Given the description of an element on the screen output the (x, y) to click on. 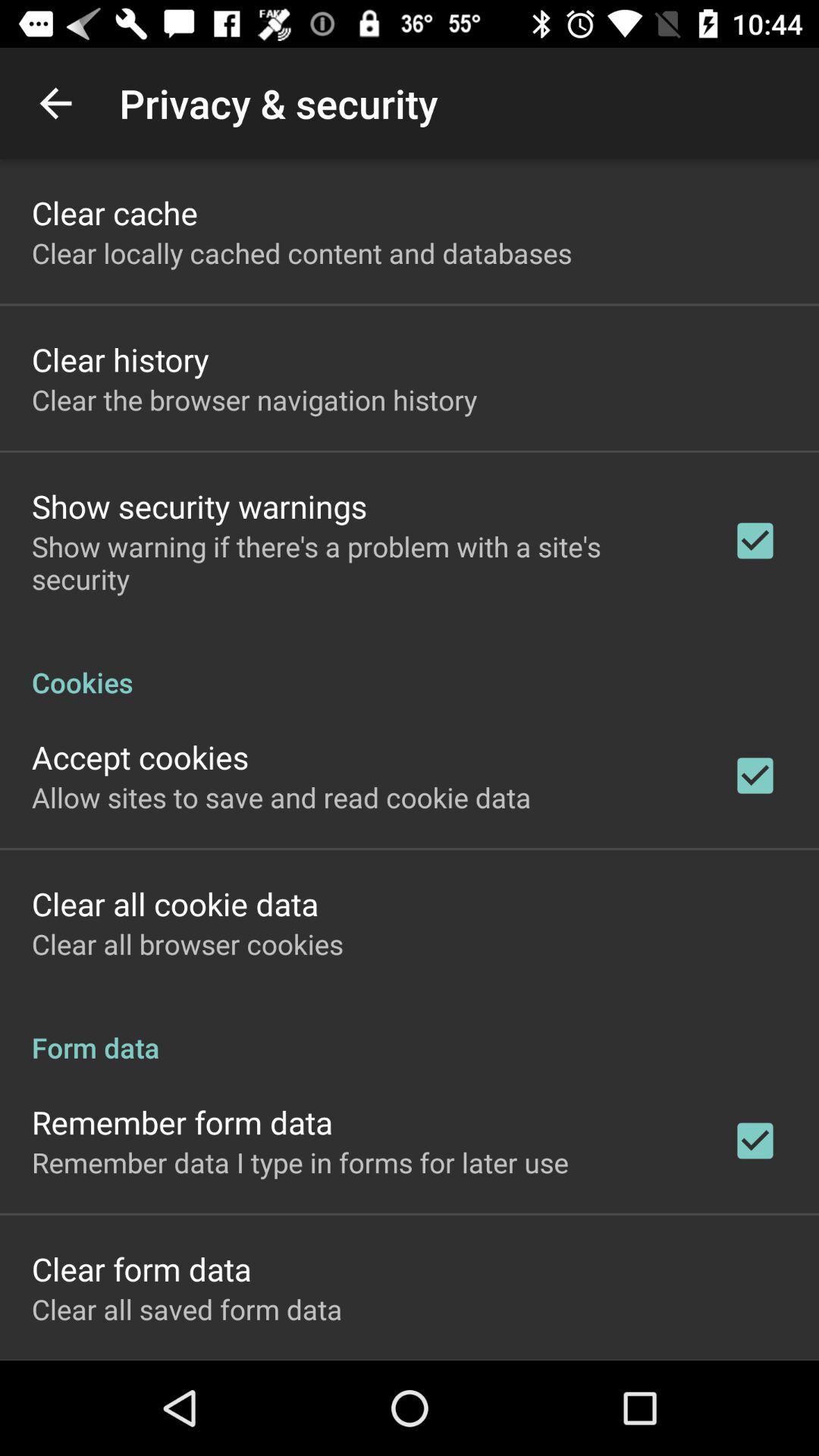
scroll until allow sites to item (281, 797)
